Given the description of an element on the screen output the (x, y) to click on. 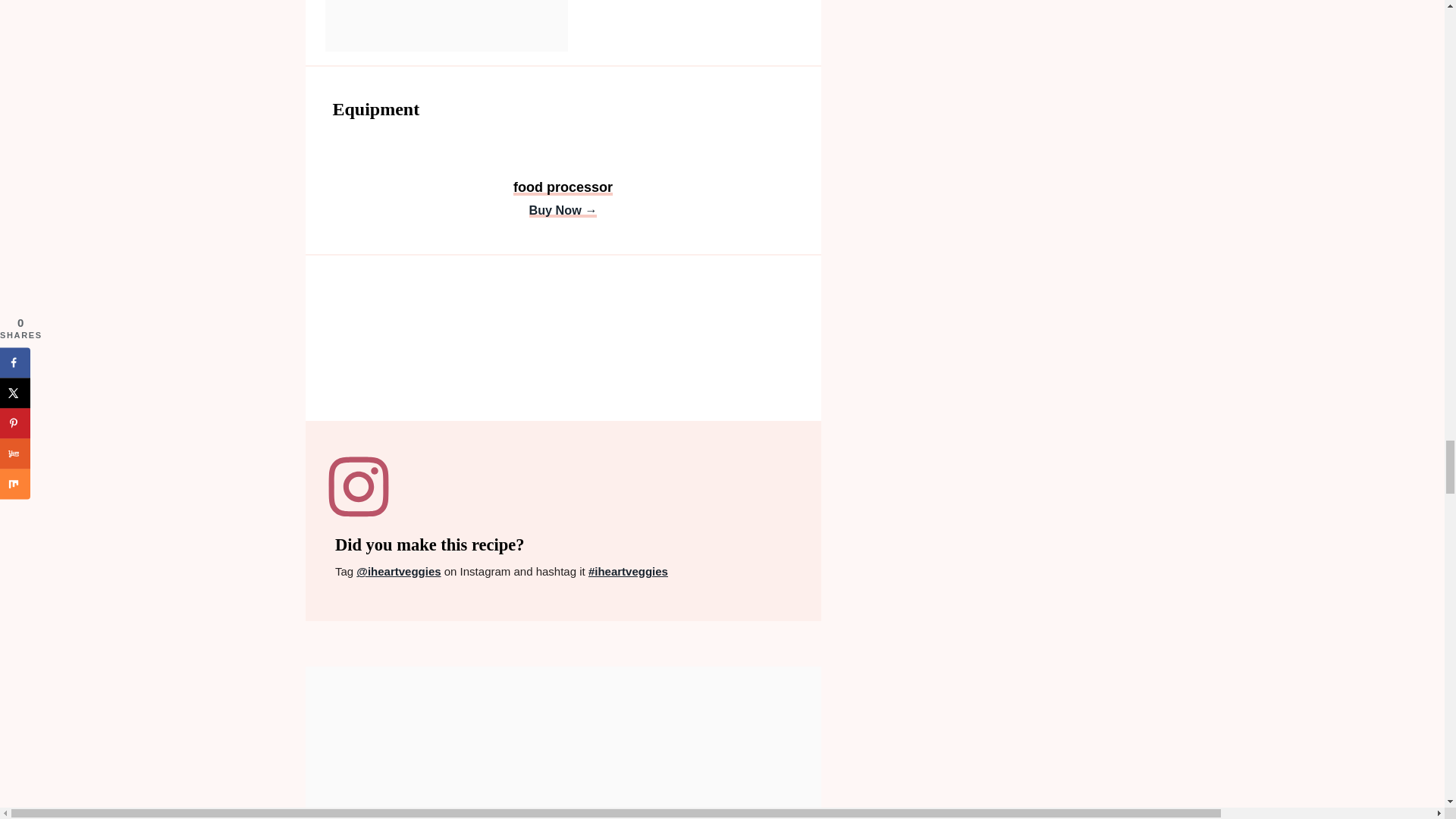
nutritional information (563, 345)
